Given the description of an element on the screen output the (x, y) to click on. 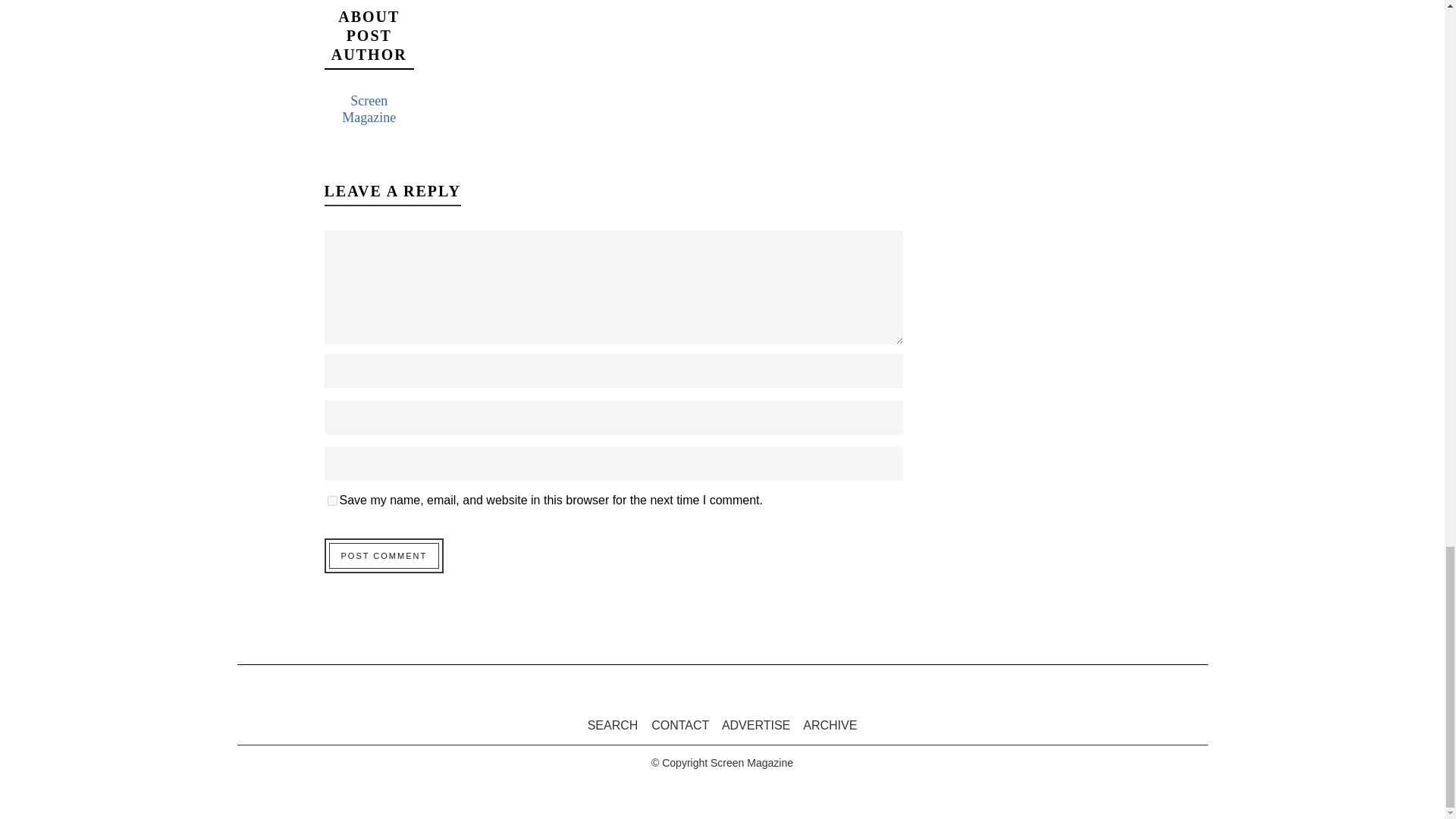
Post Comment (384, 555)
yes (332, 501)
Posts by Screen Magazine (369, 109)
